Given the description of an element on the screen output the (x, y) to click on. 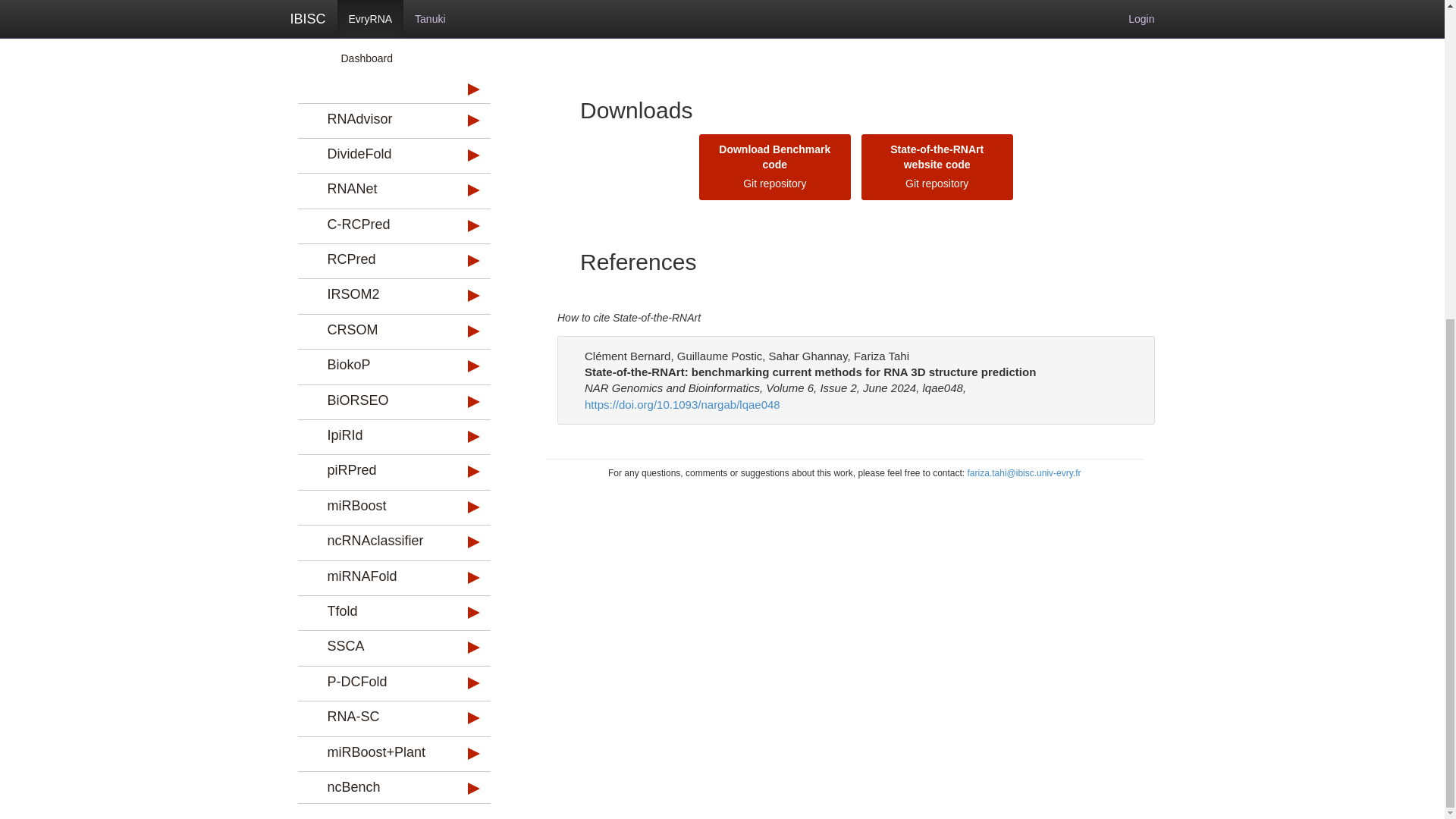
RCPred (375, 259)
DivideFold (375, 154)
State-of-the-RNArt (375, 6)
C-RCPred (375, 224)
Dashboard (378, 58)
CRSOM (375, 330)
RNANet (375, 188)
IRSOM2 (375, 294)
RNAdvisor (375, 119)
Home (378, 31)
